Given the description of an element on the screen output the (x, y) to click on. 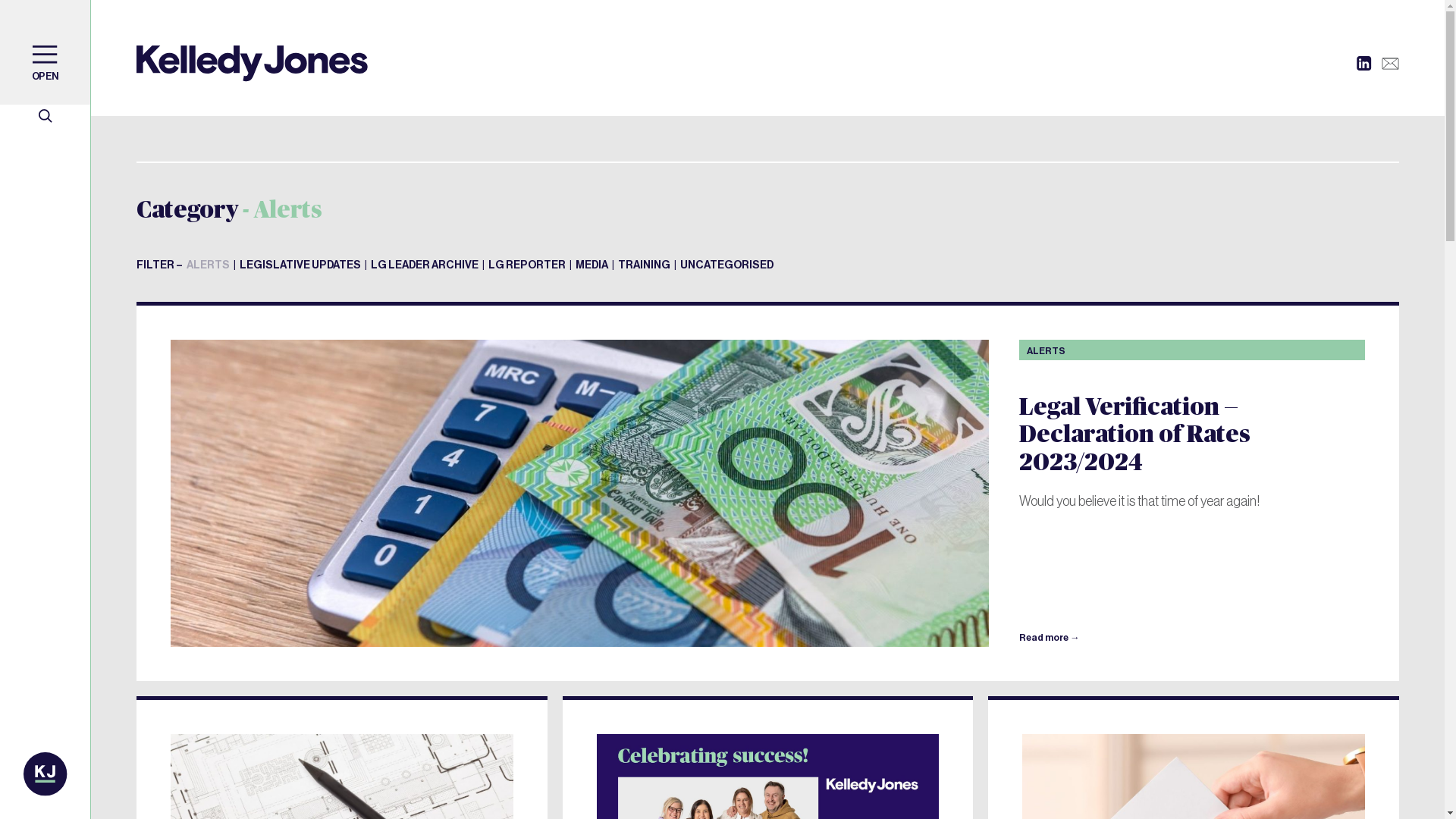
UNCATEGORISED Element type: text (726, 264)
ALERTS Element type: text (1045, 350)
ALERTS Element type: text (207, 264)
Read more Element type: text (1049, 637)
MEDIA Element type: text (591, 264)
Email Element type: text (1389, 63)
LinkedIn Element type: text (1364, 63)
LEGISLATIVE UPDATES Element type: text (299, 264)
icon-menu Created with Sketch.
OPEN Element type: text (45, 52)
TRAINING Element type: text (644, 264)
LG LEADER ARCHIVE Element type: text (424, 264)
LG REPORTER Element type: text (526, 264)
Search Element type: text (45, 115)
